Given the description of an element on the screen output the (x, y) to click on. 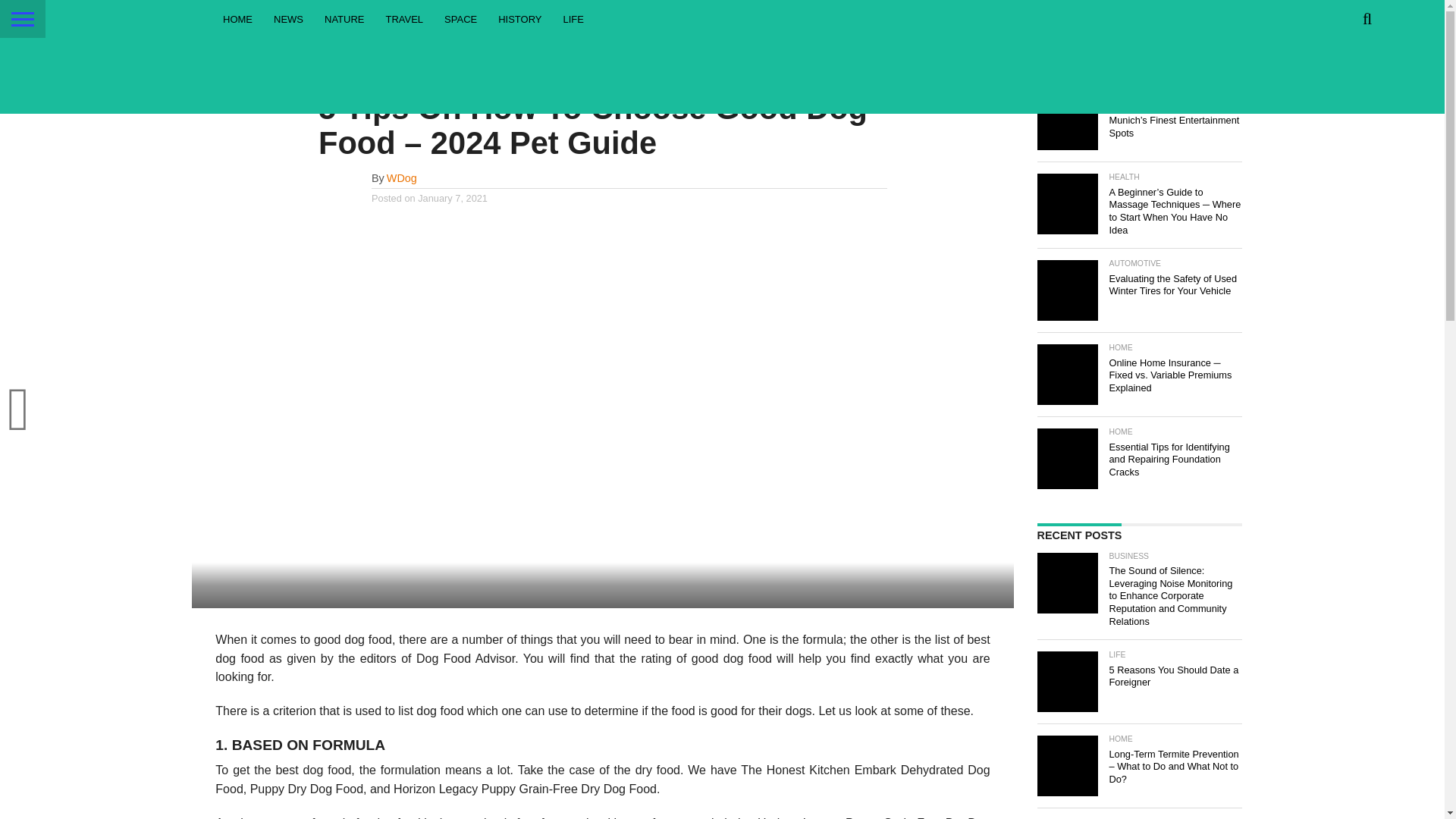
HISTORY (519, 18)
NATURE (344, 18)
Posts by WDog (401, 177)
NEWS (288, 18)
HOME (237, 18)
TRAVEL (403, 18)
SPACE (460, 18)
LIFE (573, 18)
WDog (401, 177)
